Given the description of an element on the screen output the (x, y) to click on. 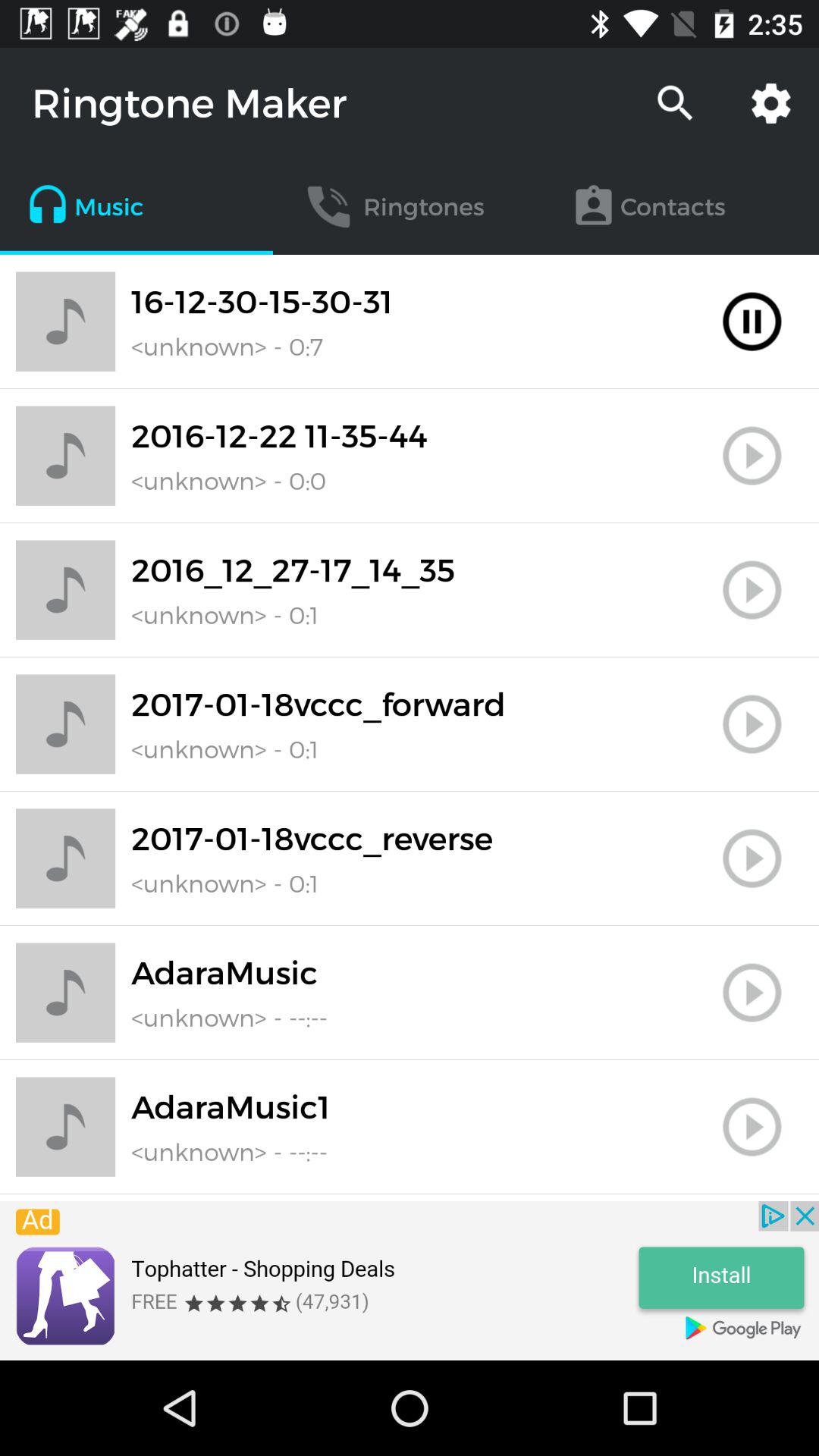
play (752, 590)
